Given the description of an element on the screen output the (x, y) to click on. 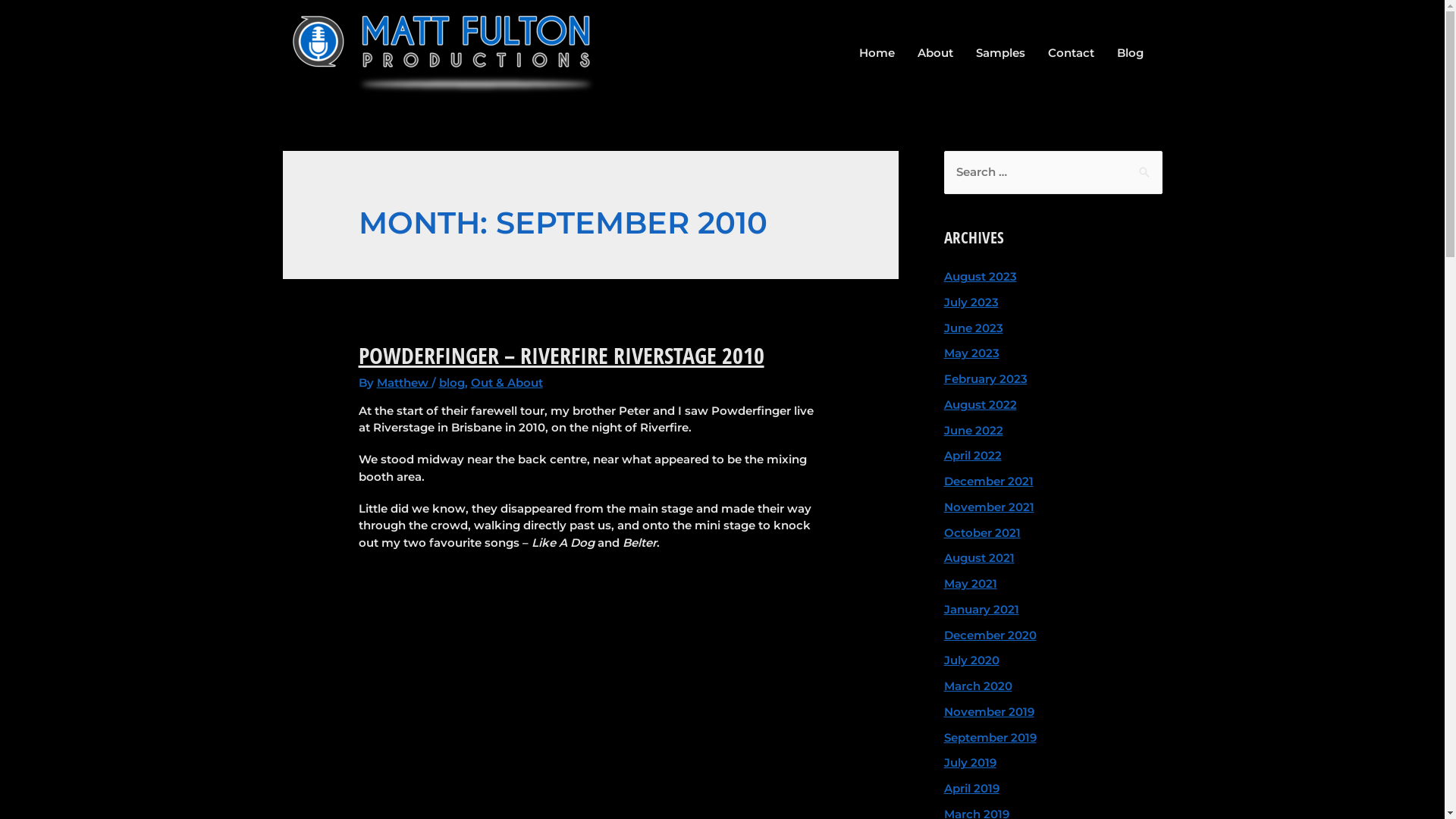
June 2022 Element type: text (972, 430)
January 2021 Element type: text (980, 609)
Home Element type: text (876, 52)
July 2023 Element type: text (970, 301)
April 2022 Element type: text (972, 455)
August 2023 Element type: text (979, 276)
December 2020 Element type: text (989, 634)
blog Element type: text (451, 382)
December 2021 Element type: text (987, 480)
May 2023 Element type: text (970, 352)
March 2020 Element type: text (977, 685)
Blog Element type: text (1129, 52)
August 2022 Element type: text (979, 404)
Samples Element type: text (1000, 52)
Contact Element type: text (1069, 52)
May 2021 Element type: text (969, 583)
About Element type: text (934, 52)
July 2020 Element type: text (970, 659)
February 2023 Element type: text (984, 378)
November 2021 Element type: text (988, 506)
June 2023 Element type: text (972, 327)
September 2019 Element type: text (989, 736)
October 2021 Element type: text (981, 531)
Search Element type: text (1145, 166)
April 2019 Element type: text (970, 788)
November 2019 Element type: text (988, 711)
July 2019 Element type: text (969, 762)
August 2021 Element type: text (978, 557)
Matthew Element type: text (403, 382)
Out & About Element type: text (506, 382)
